Given the description of an element on the screen output the (x, y) to click on. 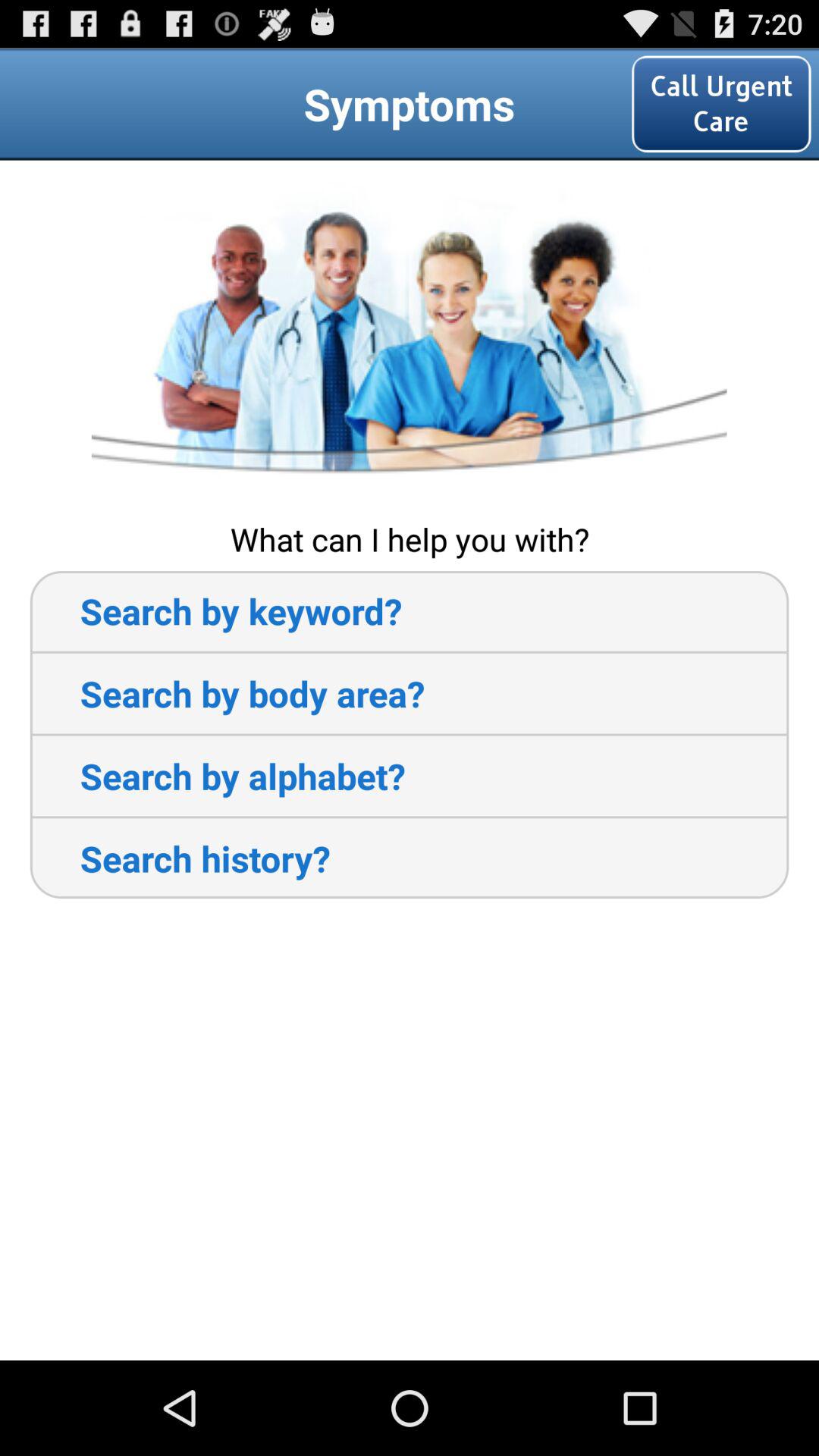
press the call urgent care at the top right corner (721, 103)
